Given the description of an element on the screen output the (x, y) to click on. 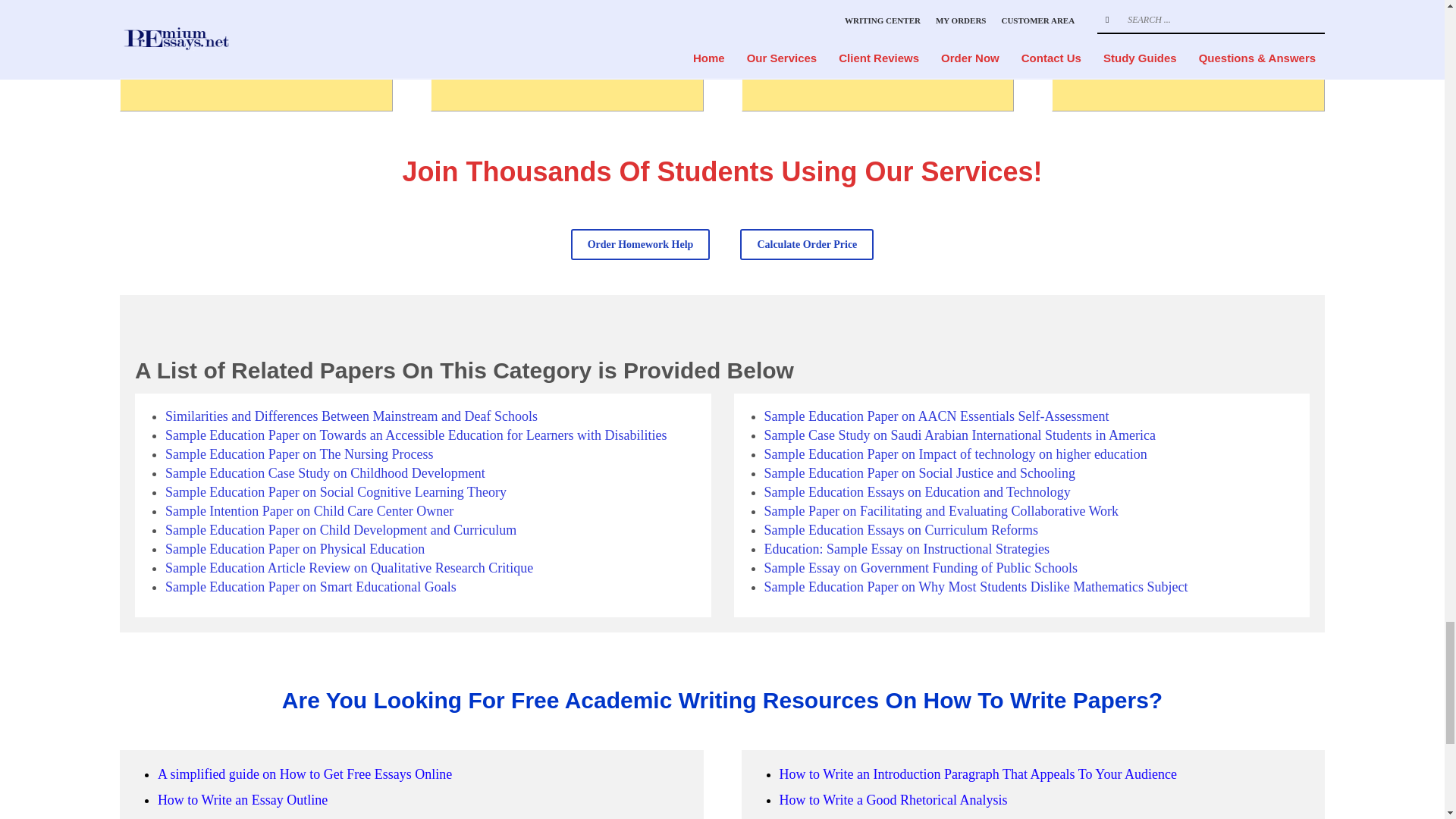
Sample Education Paper on Social Cognitive Learning Theory (335, 491)
Sample Education Case Study on Childhood Development (324, 473)
Sample Education Paper on The Nursing Process (299, 453)
Calculate Order Price (806, 244)
Sample Education Paper on Smart Educational Goals (311, 586)
Sample Intention Paper on Child Care Center Owner (308, 510)
Order Homework Help (640, 244)
Sample Education Paper on Physical Education (295, 548)
Sample Education Paper on Child Development and Curriculum (340, 529)
